Given the description of an element on the screen output the (x, y) to click on. 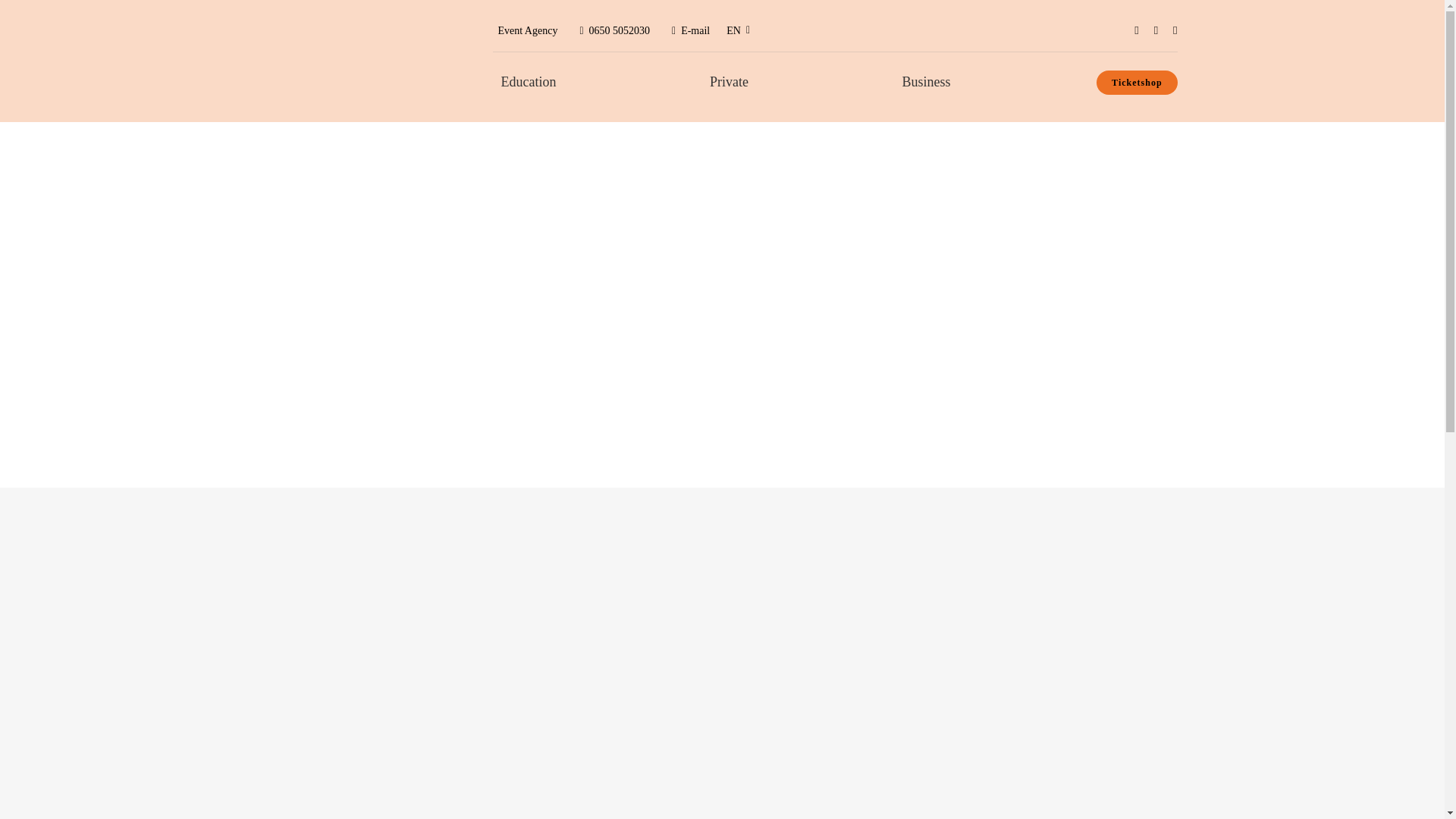
0650 5052030 (613, 30)
E-mail (689, 30)
EN (739, 30)
Business (926, 82)
Education (528, 82)
Ticketshop (1136, 82)
Private (728, 82)
EN (739, 30)
Event Agency (528, 30)
